Given the description of an element on the screen output the (x, y) to click on. 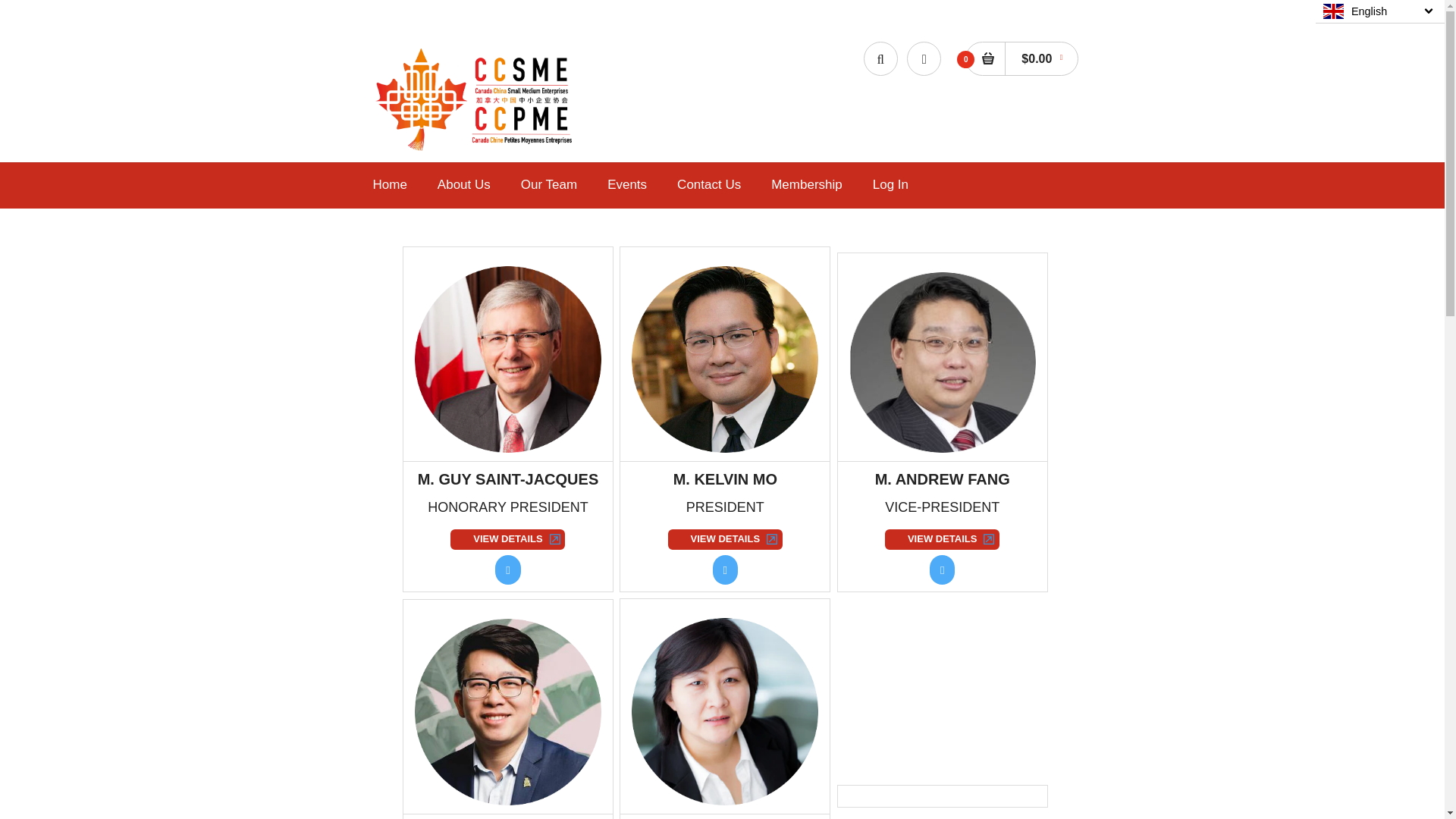
ccsmes (476, 150)
Membership (807, 185)
Our Team (548, 185)
About Us (463, 185)
ccsmes (476, 99)
Events (626, 185)
Contact Us (708, 185)
